Given the description of an element on the screen output the (x, y) to click on. 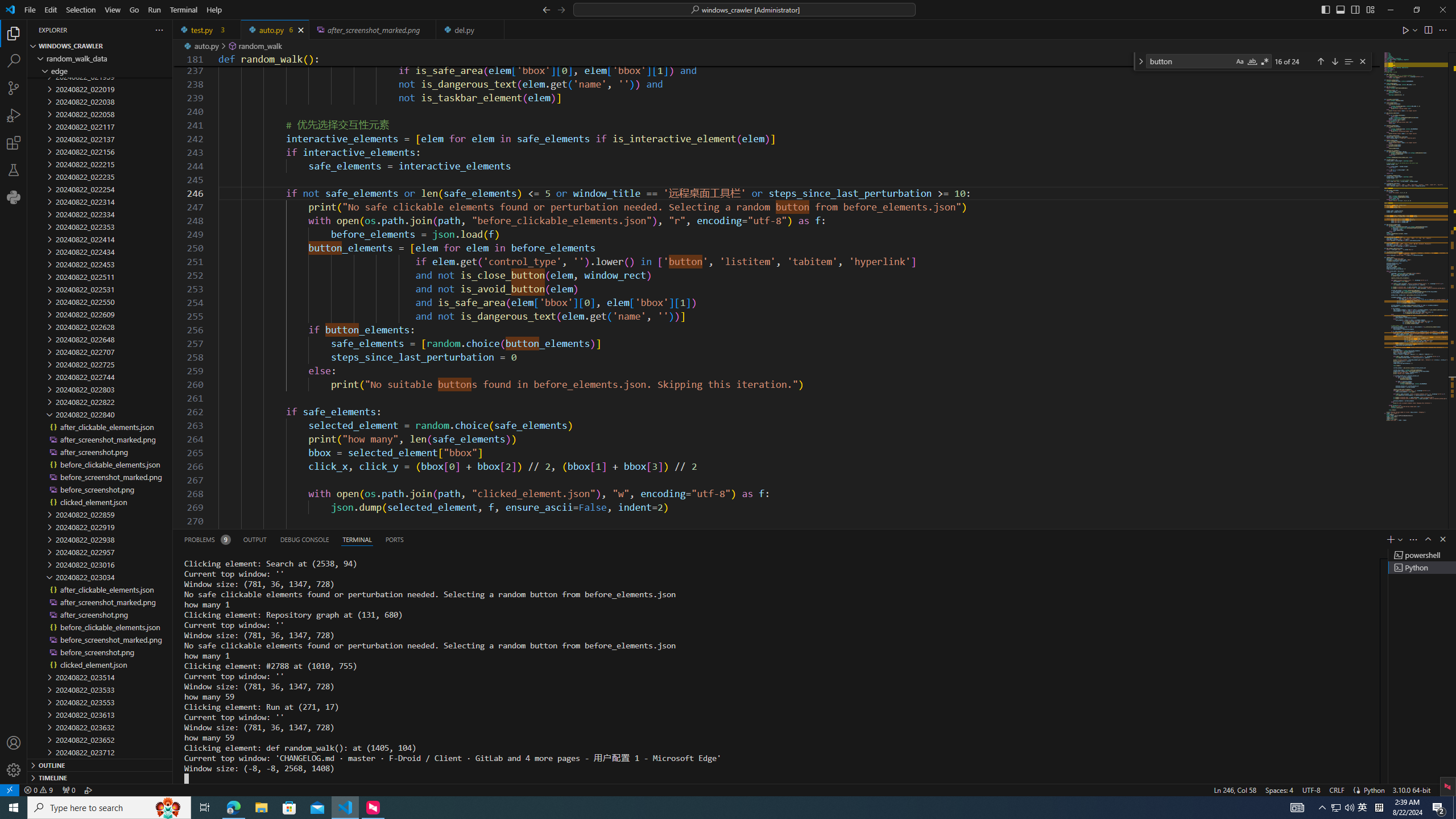
View (112, 9)
Ln 246, Col 58 (1235, 789)
remote (9, 789)
Source Control (Ctrl+Shift+G) (13, 87)
Go Forward (Alt+RightArrow) (560, 9)
Extensions (Ctrl+Shift+X) (13, 142)
Close (Ctrl+F4) (496, 29)
Close (Escape) (1362, 60)
Output (Ctrl+Shift+U) (254, 539)
Explorer actions (118, 29)
Launch Profile... (1400, 539)
Views and More Actions... (1412, 539)
